Given the description of an element on the screen output the (x, y) to click on. 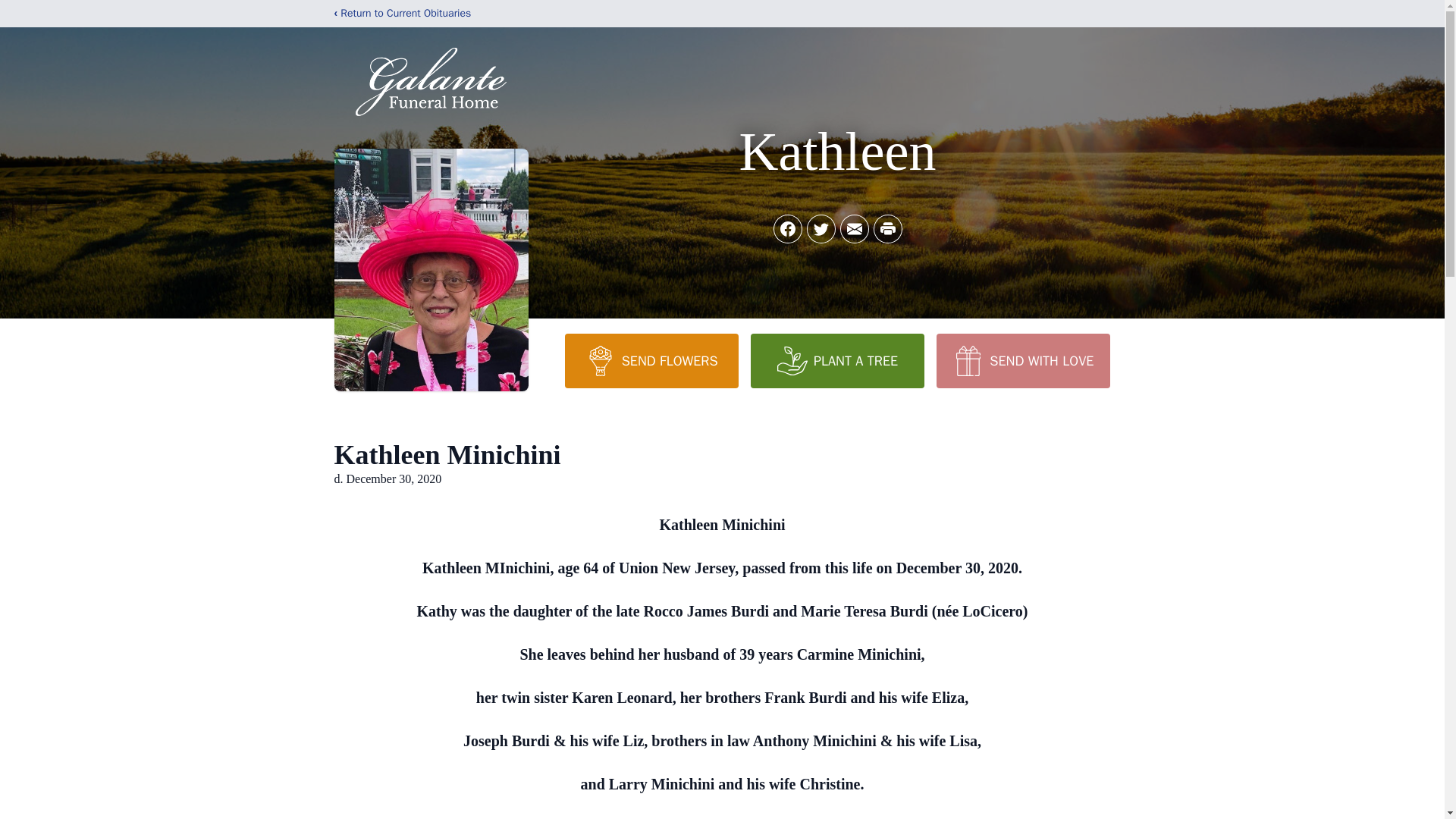
SEND FLOWERS (651, 360)
PLANT A TREE (837, 360)
SEND WITH LOVE (1022, 360)
